Given the description of an element on the screen output the (x, y) to click on. 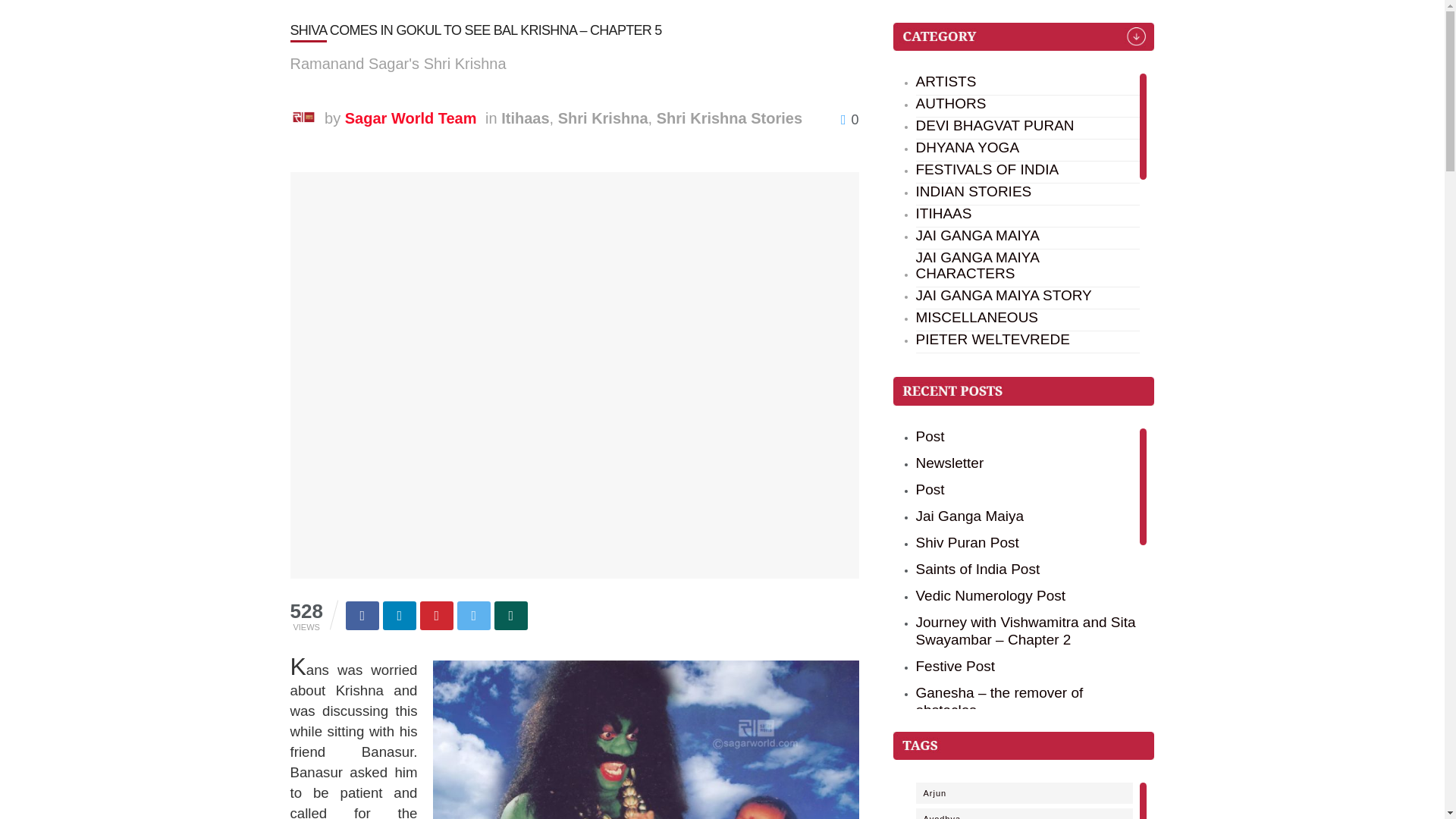
0 (850, 119)
tags (1023, 746)
Shri Krishna (602, 117)
recentpost (1023, 390)
Shri Krishna Stories (729, 117)
Sagar World Team (411, 117)
category (1023, 36)
Itihaas (524, 117)
